Given the description of an element on the screen output the (x, y) to click on. 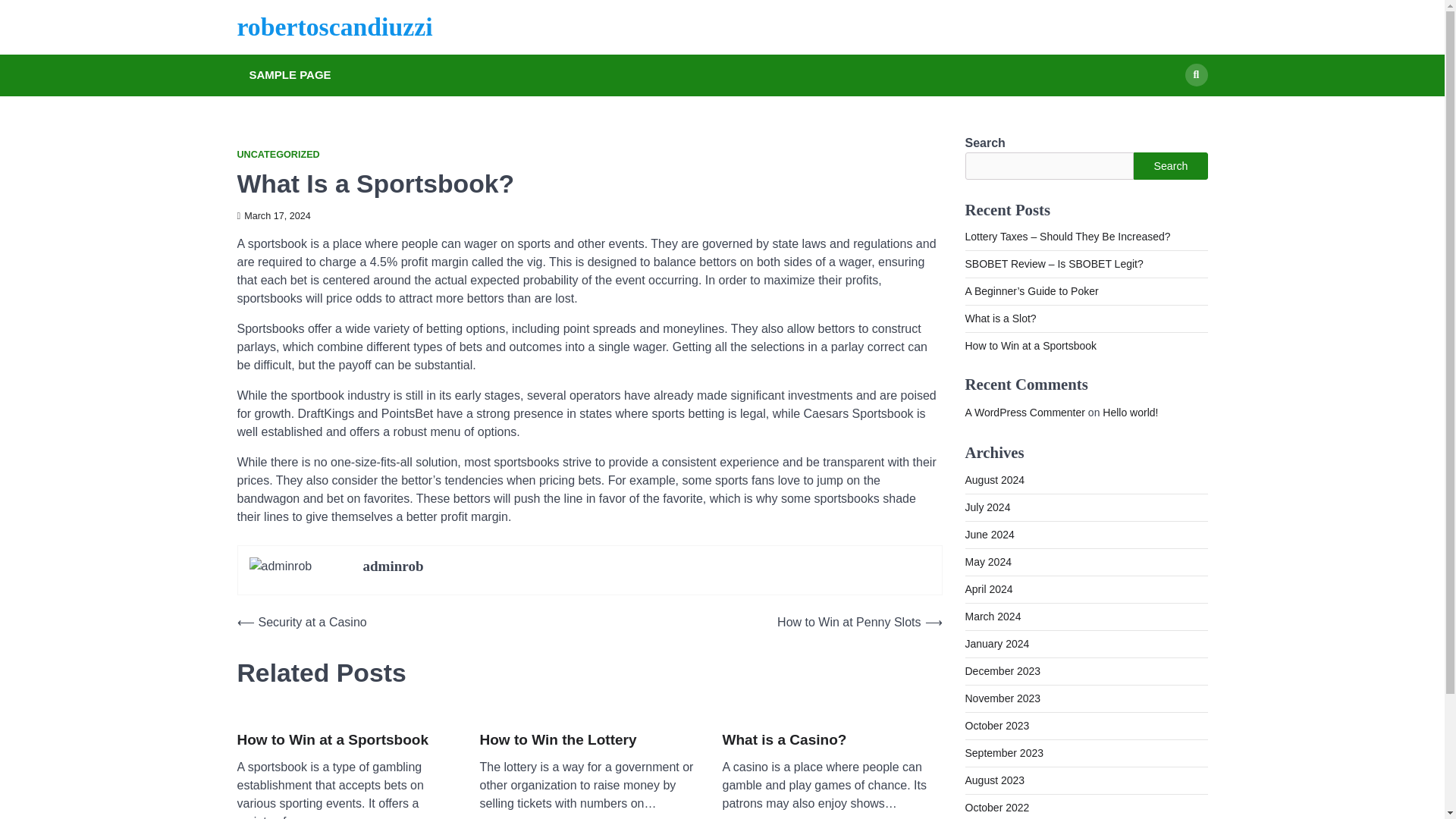
July 2024 (986, 506)
March 2024 (991, 615)
September 2023 (1003, 752)
May 2024 (986, 561)
What is a Slot? (999, 318)
January 2024 (996, 643)
Hello world! (1129, 412)
March 17, 2024 (272, 215)
UNCATEGORIZED (276, 154)
April 2024 (987, 588)
